Given the description of an element on the screen output the (x, y) to click on. 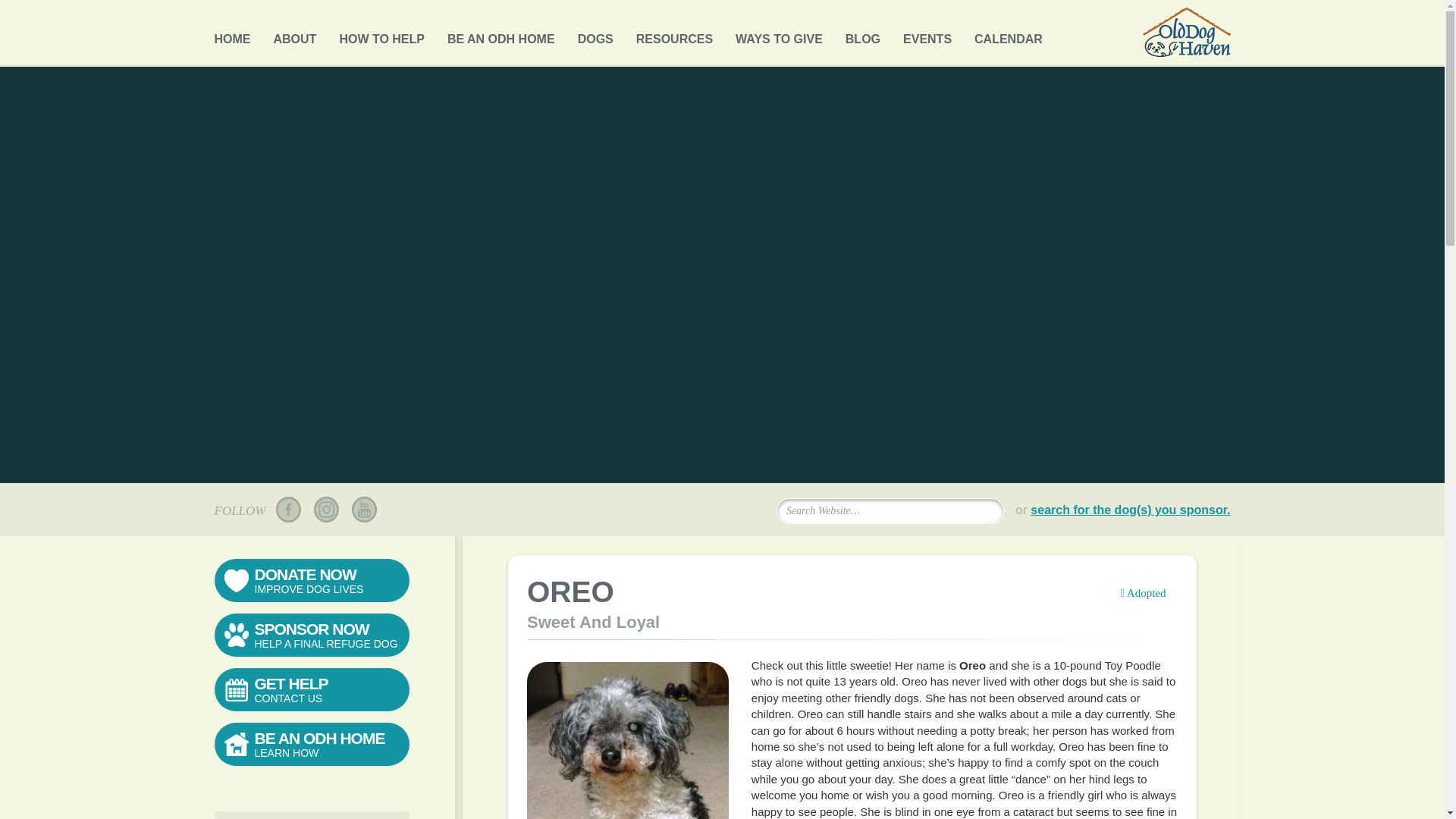
Dogs (595, 34)
Home (232, 34)
BE AN ODH HOME (500, 34)
RESOURCES (674, 34)
HOME (232, 34)
CALENDAR (1008, 34)
How To Help (382, 34)
Be An ODH Home (500, 34)
EVENTS (927, 34)
DOGS (595, 34)
